Given the description of an element on the screen output the (x, y) to click on. 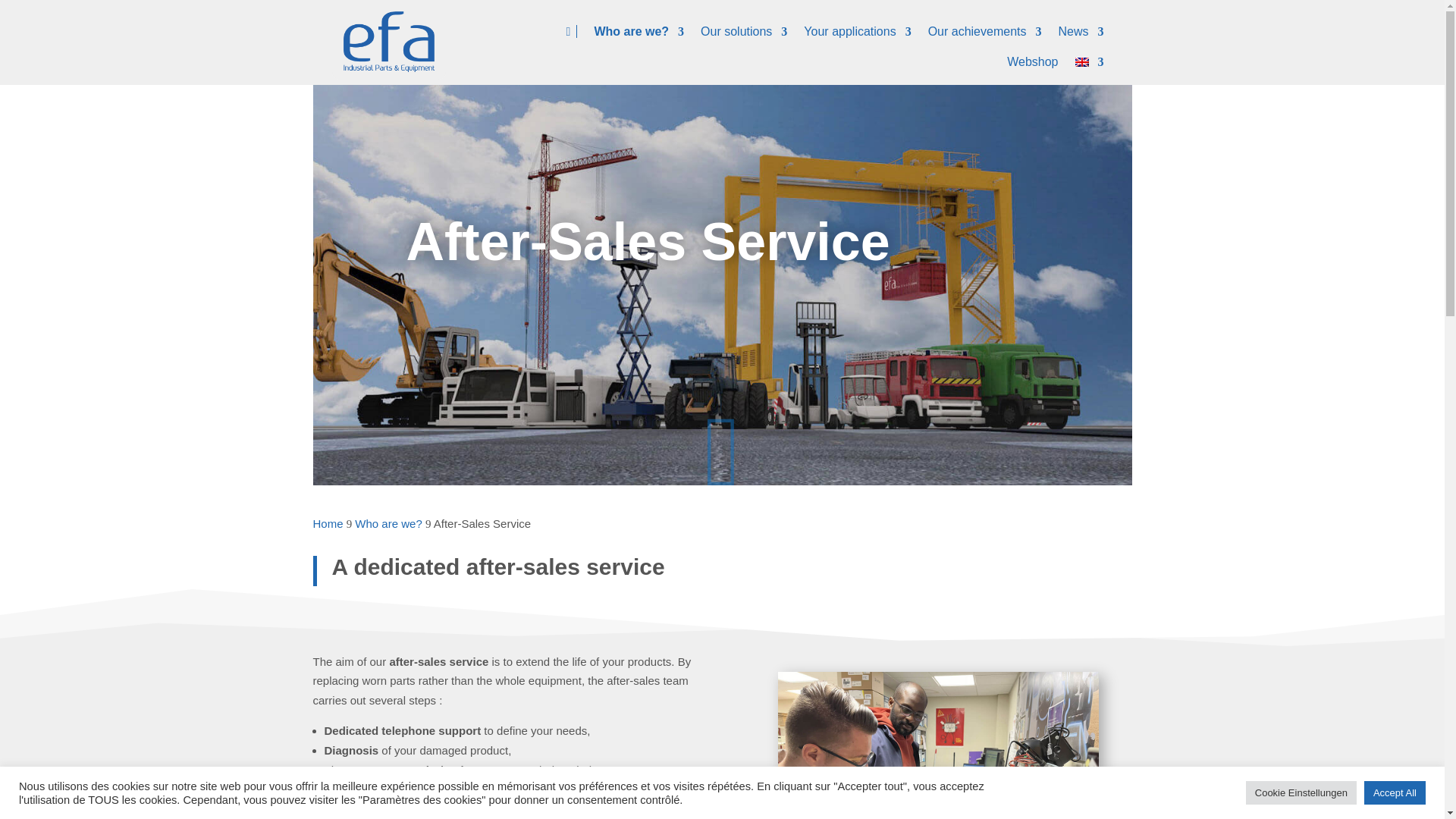
logo-bleu (388, 45)
Your applications (857, 34)
Our solutions (743, 34)
Our achievements (985, 34)
Webshop (1032, 64)
Who are we? (639, 34)
News (1080, 34)
PHOTOS-SAV-efa-Photo2-1024x768 (938, 745)
